Given the description of an element on the screen output the (x, y) to click on. 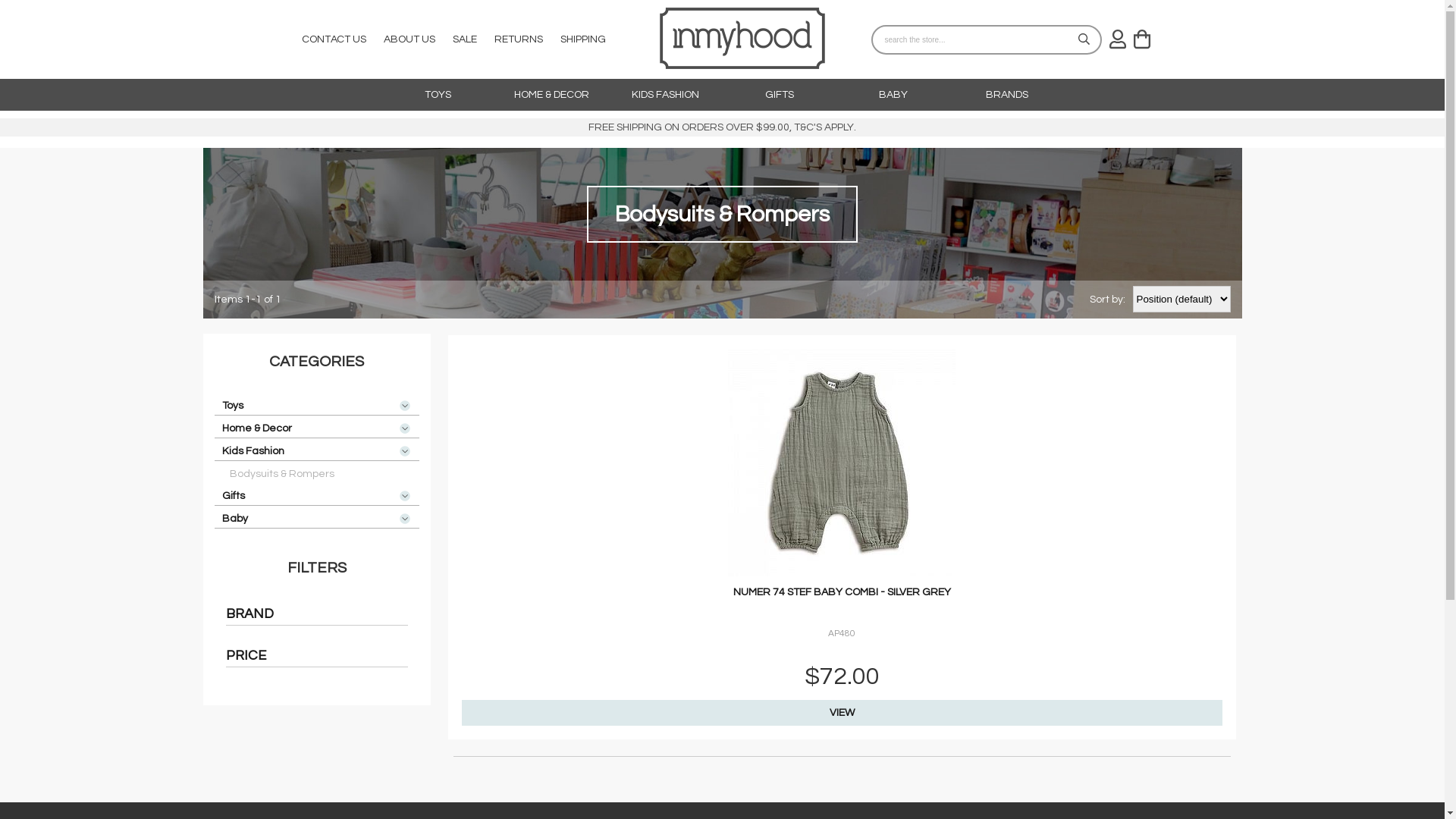
ABOUT US Element type: text (409, 39)
CONTACT US Element type: text (333, 39)
GIFTS Element type: text (778, 94)
SHIPPING Element type: text (582, 39)
BRANDS Element type: text (1006, 94)
BABY Element type: text (892, 94)
NUMER 74 STEF BABY COMBI - SILVER GREY
AP480
$72.00
VIEW Element type: text (841, 537)
SALE Element type: text (463, 39)
RETURNS Element type: text (518, 39)
TOYS Element type: text (437, 94)
Bodysuits & Rompers Element type: text (315, 472)
HOME & DECOR Element type: text (551, 94)
KIDS FASHION Element type: text (665, 94)
